Given the description of an element on the screen output the (x, y) to click on. 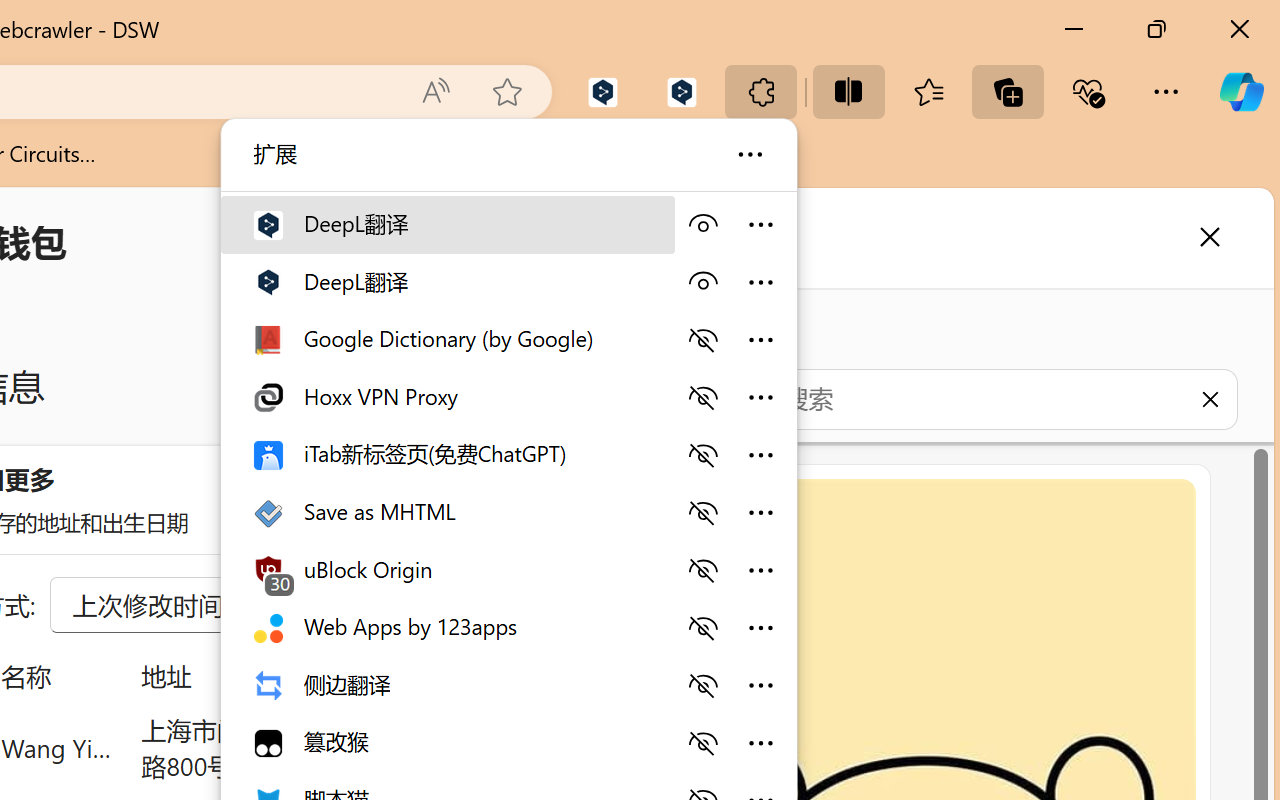
uBlock Origin (445, 569)
Google Dictionary (by Google) (445, 337)
